Given the description of an element on the screen output the (x, y) to click on. 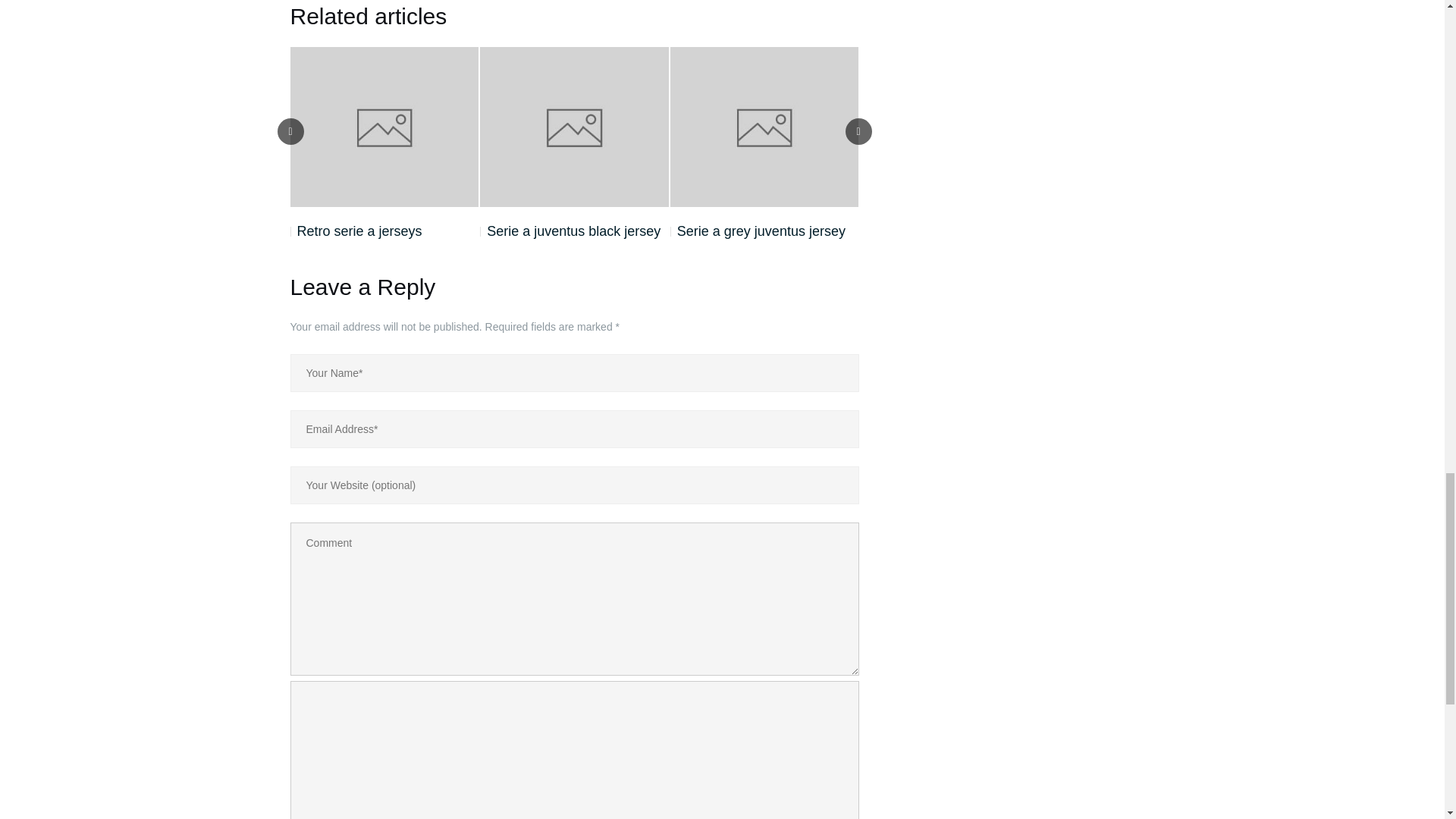
Retro serie a jerseys (355, 230)
Serie a grey juventus jersey (757, 230)
Serie a juventus black jersey (570, 230)
